Given the description of an element on the screen output the (x, y) to click on. 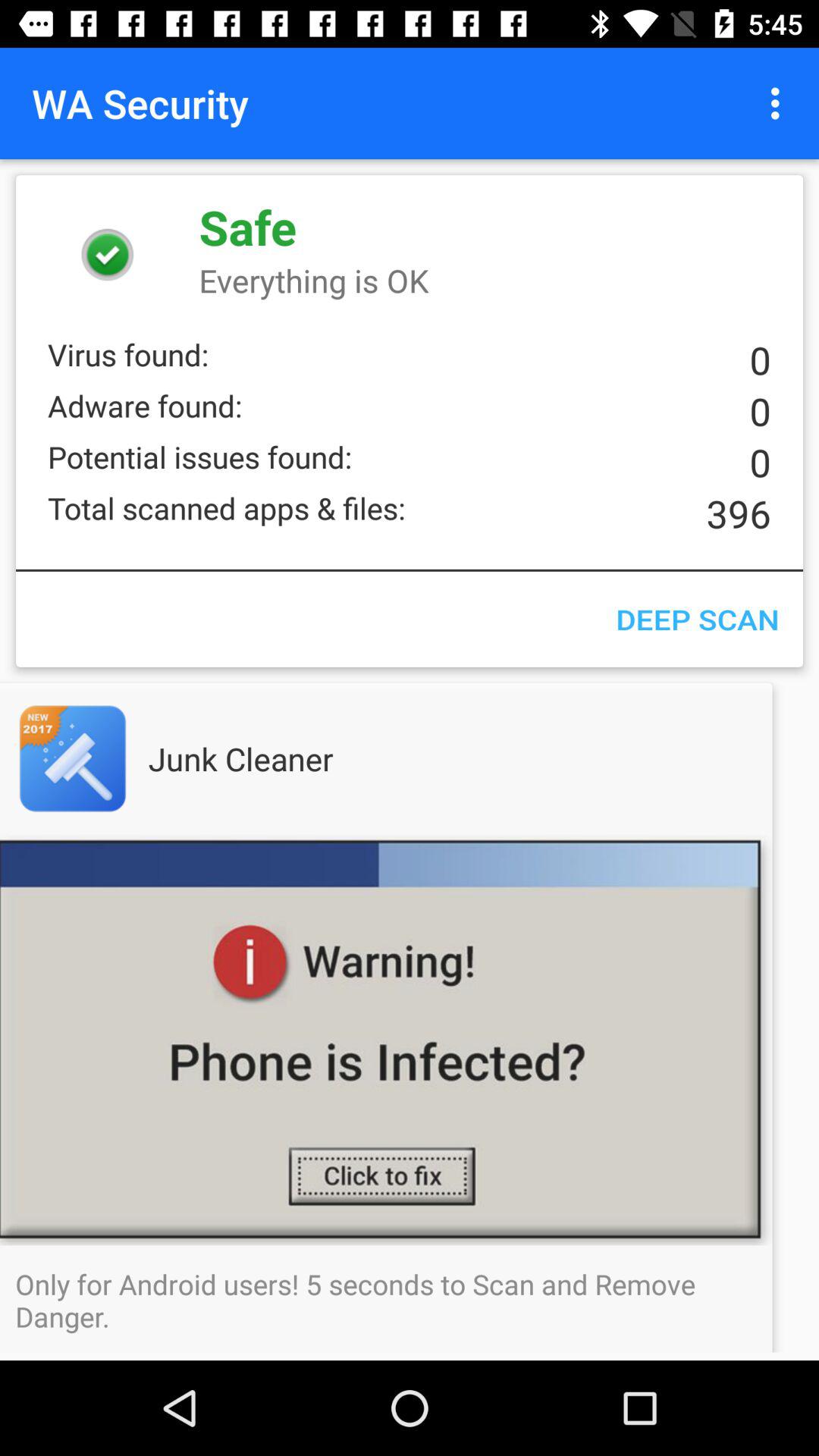
turn off the deep scan icon (697, 619)
